Given the description of an element on the screen output the (x, y) to click on. 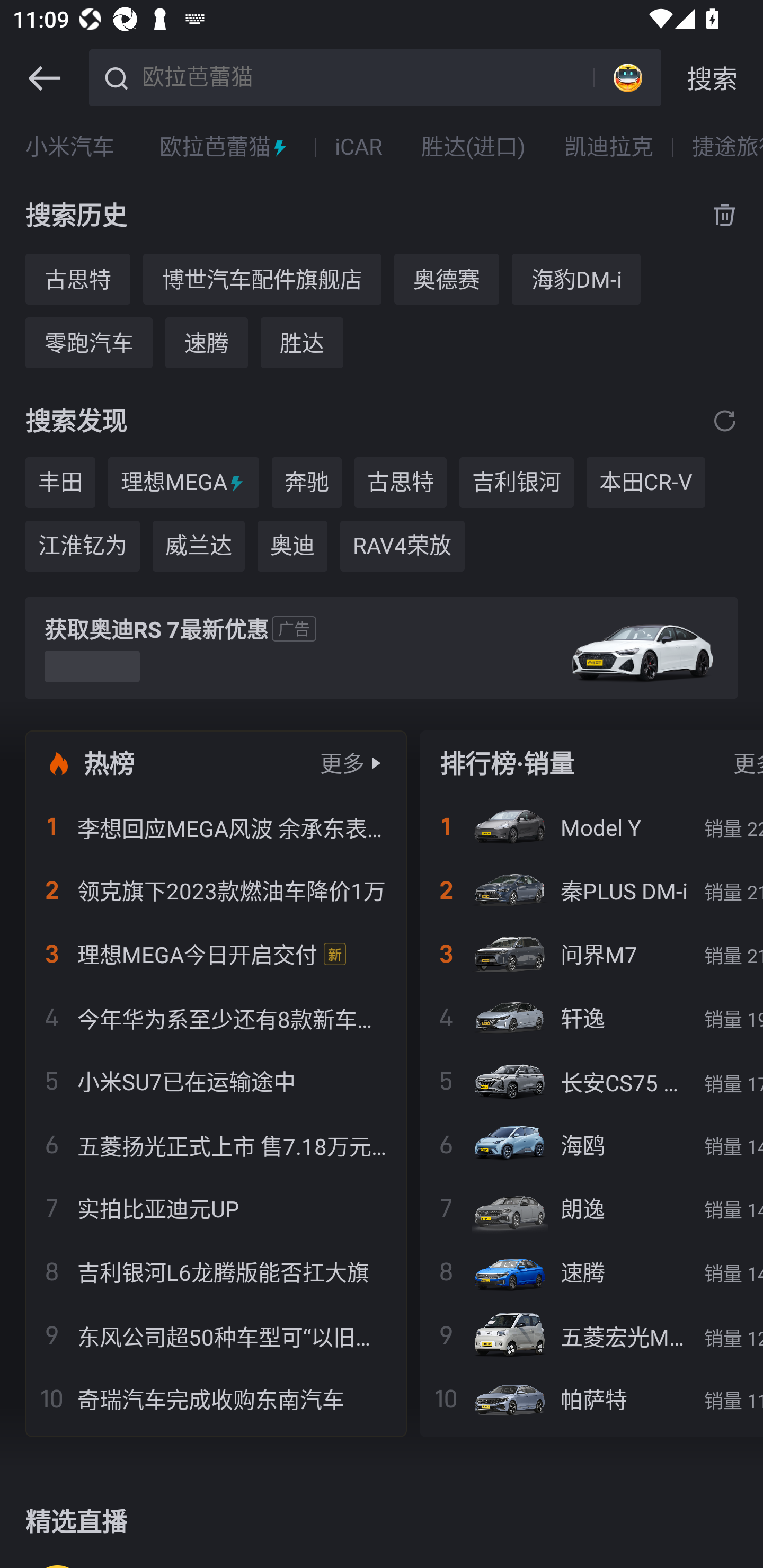
 欧拉芭蕾猫 (364, 76)
 (44, 78)
搜索 (711, 78)
小米汽车 (69, 147)
欧拉芭蕾猫 (224, 147)
iCAR (358, 147)
胜达(进口) (473, 147)
凯迪拉克 (608, 147)
古思特 (77, 278)
博世汽车配件旗舰店 (261, 278)
奥德赛 (446, 278)
海豹DM-i (576, 278)
零跑汽车 (88, 342)
速腾 (206, 342)
胜达 (302, 342)
 (724, 419)
丰田 (60, 482)
理想MEGA (183, 482)
奔驰 (306, 482)
古思特 (400, 482)
吉利银河 (516, 482)
本田CR-V (645, 482)
江淮钇为 (82, 546)
威兰达 (198, 546)
奥迪 (292, 546)
RAV4荣放 (402, 546)
获取奥迪RS 7最新优惠 广告 立享优惠 (381, 648)
更多 (341, 762)
李想回应MEGA风波 余承东表态 (215, 826)
Model Y 销量 22537 (591, 826)
领克旗下2023款燃油车降价1万 (215, 890)
秦PLUS DM-i 销量 21268 (591, 890)
理想MEGA今日开启交付 (215, 953)
问界M7 销量 21083 (591, 953)
今年华为系至少还有8款新车要来 (215, 1017)
轩逸 销量 19878 (591, 1017)
小米SU7已在运输途中 (215, 1080)
长安CS75 PLUS 销量 17303 (591, 1080)
五菱扬光正式上市 售7.18万元起 (215, 1144)
海鸥 销量 14403 (591, 1144)
实拍比亚迪元UP (215, 1208)
朗逸 销量 14400 (591, 1208)
吉利银河L6龙腾版能否扛大旗 (215, 1271)
速腾 销量 14209 (591, 1271)
东风公司超50种车型可“以旧换新” (215, 1335)
五菱宏光MINIEV 销量 12649 (591, 1335)
奇瑞汽车完成收购东南汽车 (215, 1398)
帕萨特 销量 11641 (591, 1398)
